Given the description of an element on the screen output the (x, y) to click on. 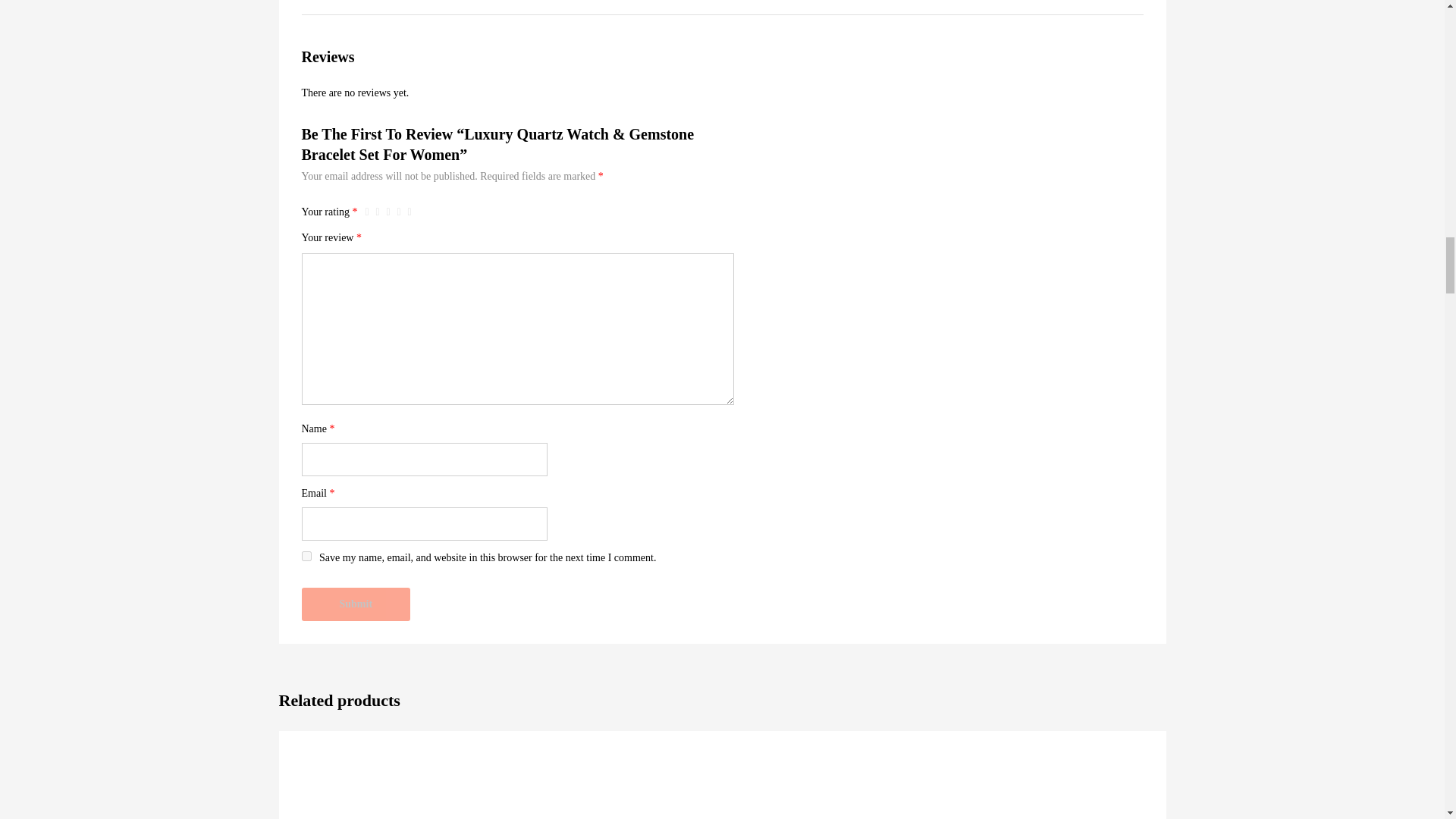
Submit (355, 604)
yes (306, 556)
